Given the description of an element on the screen output the (x, y) to click on. 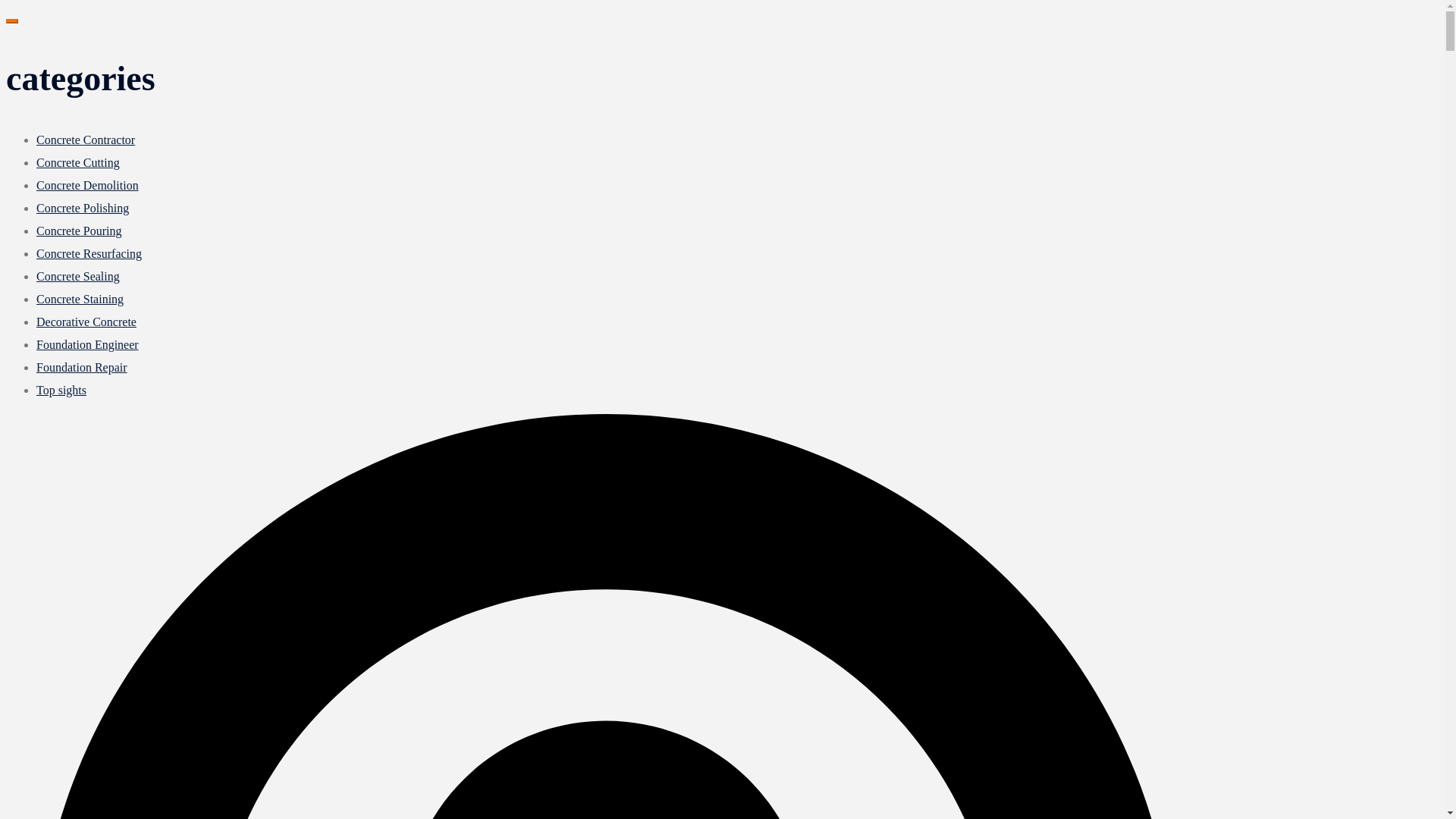
Concrete Contractor (85, 139)
Concrete Sealing (77, 276)
Concrete Polishing (82, 207)
Concrete Cutting (77, 162)
Concrete Resurfacing (88, 253)
Foundation Engineer (87, 344)
Foundation Repair (82, 367)
Decorative Concrete (86, 321)
Concrete Demolition (87, 185)
Top sights (60, 390)
